Given the description of an element on the screen output the (x, y) to click on. 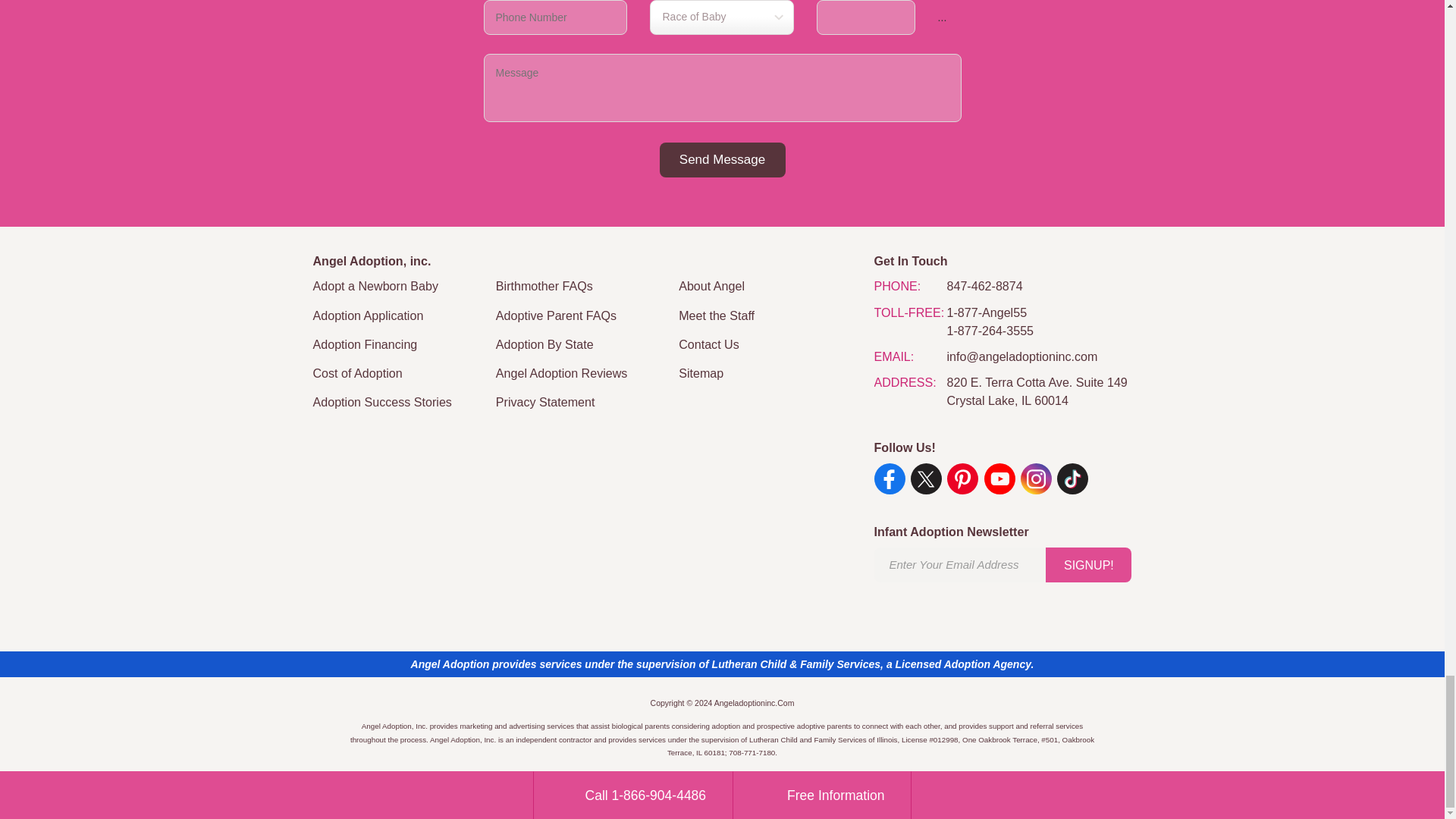
Send Message (722, 159)
signup! (1088, 564)
